Given the description of an element on the screen output the (x, y) to click on. 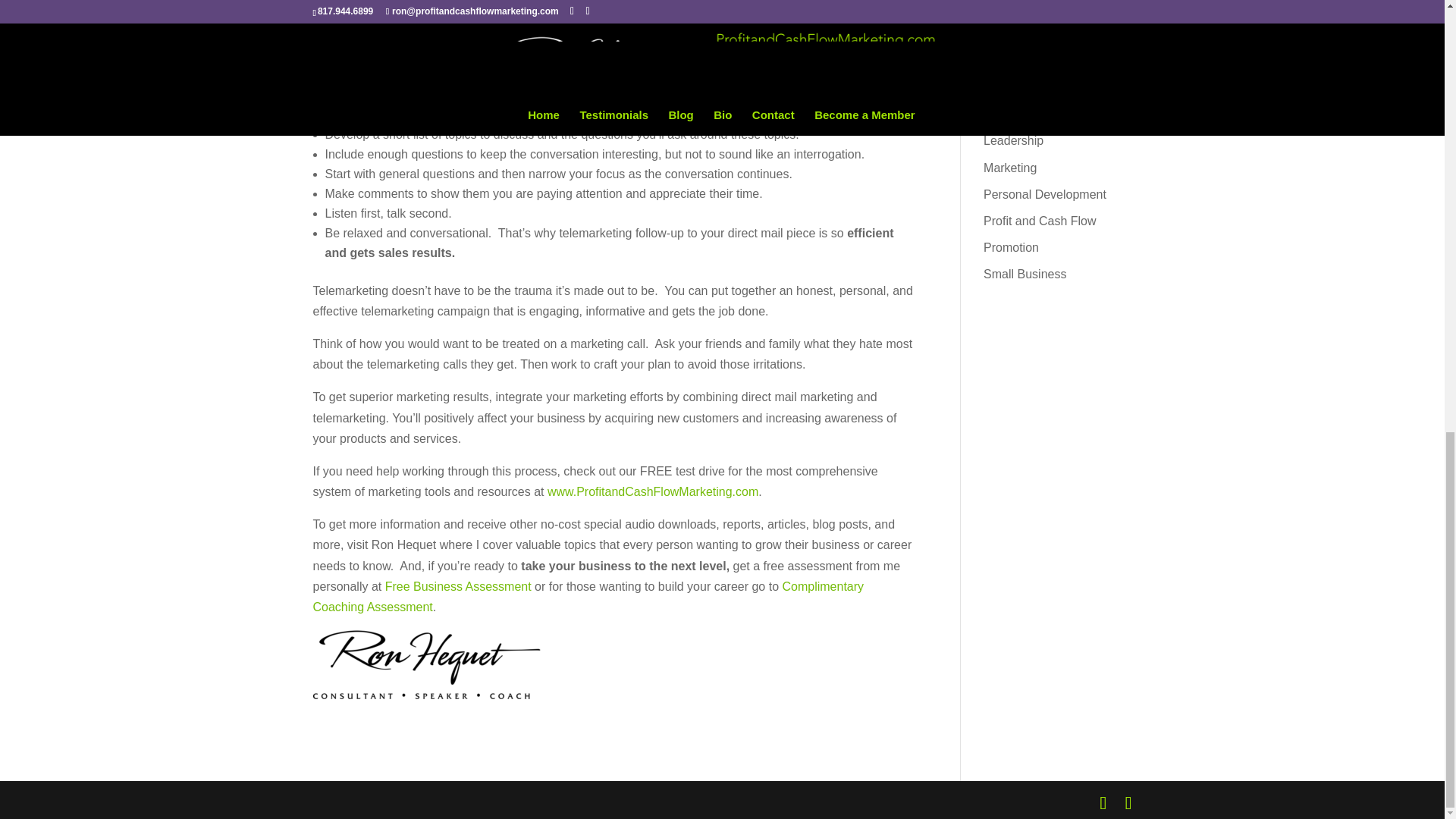
Career Development (1040, 33)
Business Planning (1033, 6)
www.ProfitandCashFlowMarketing.com (652, 491)
Complimentary Coaching Assessment (588, 596)
Free Business Assessment (458, 585)
Customer Education (1038, 60)
